Given the description of an element on the screen output the (x, y) to click on. 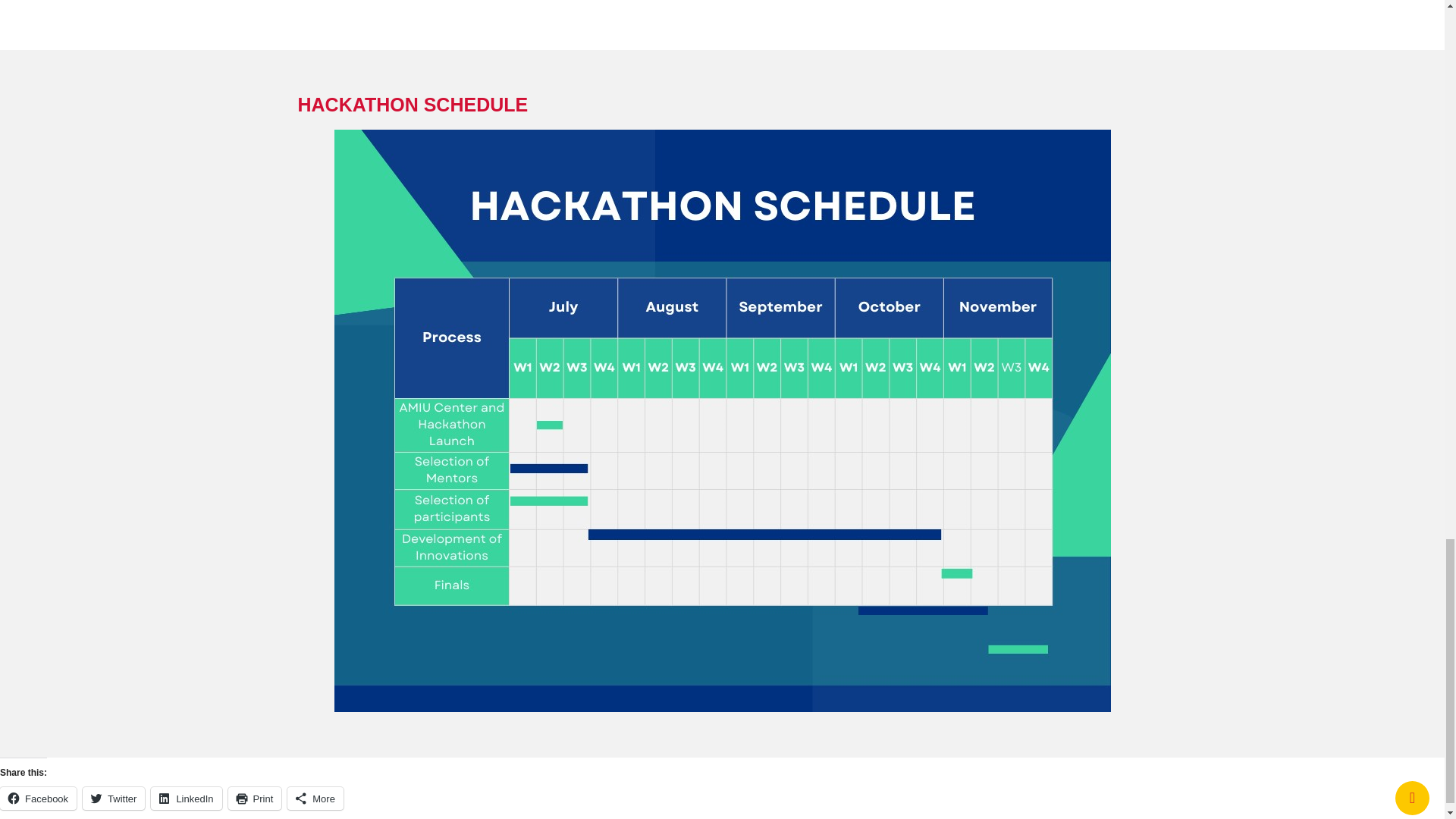
More (314, 798)
Click to share on Twitter (113, 798)
Click to share on LinkedIn (186, 798)
Click to print (255, 798)
Facebook (38, 798)
Print (255, 798)
LinkedIn (186, 798)
Twitter (113, 798)
Click to share on Facebook (38, 798)
